Given the description of an element on the screen output the (x, y) to click on. 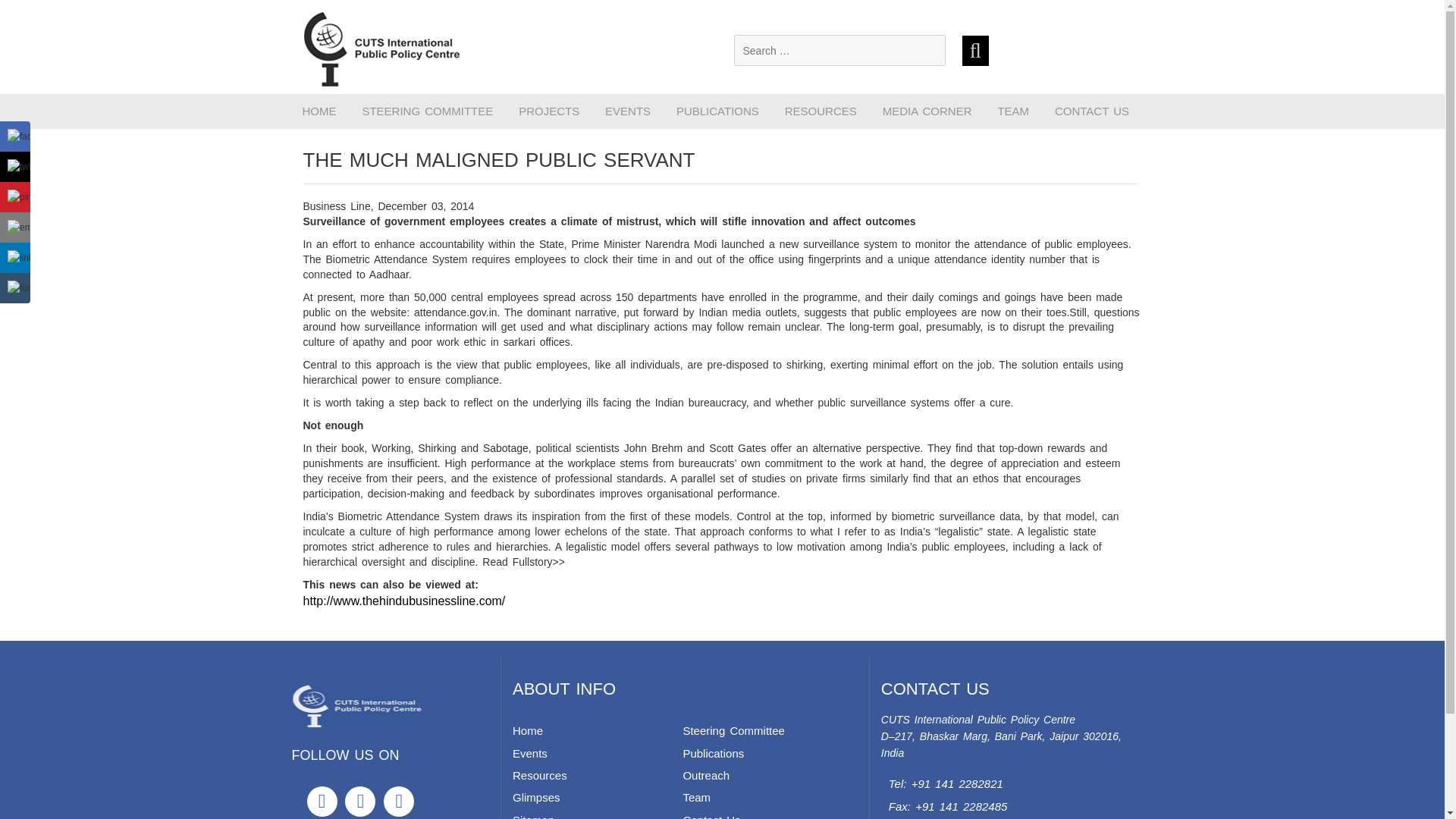
PROJECTS (548, 110)
Events (529, 753)
Publications (713, 753)
MEDIA CORNER (927, 110)
RESOURCES (820, 110)
Steering Committee (733, 730)
CONTACT US (1091, 110)
TEAM (1013, 110)
STEERING COMMITTEE (427, 110)
HOME (318, 110)
Home (527, 730)
PUBLICATIONS (717, 110)
Resources (539, 775)
Outreach (705, 775)
Glimpses (536, 797)
